Given the description of an element on the screen output the (x, y) to click on. 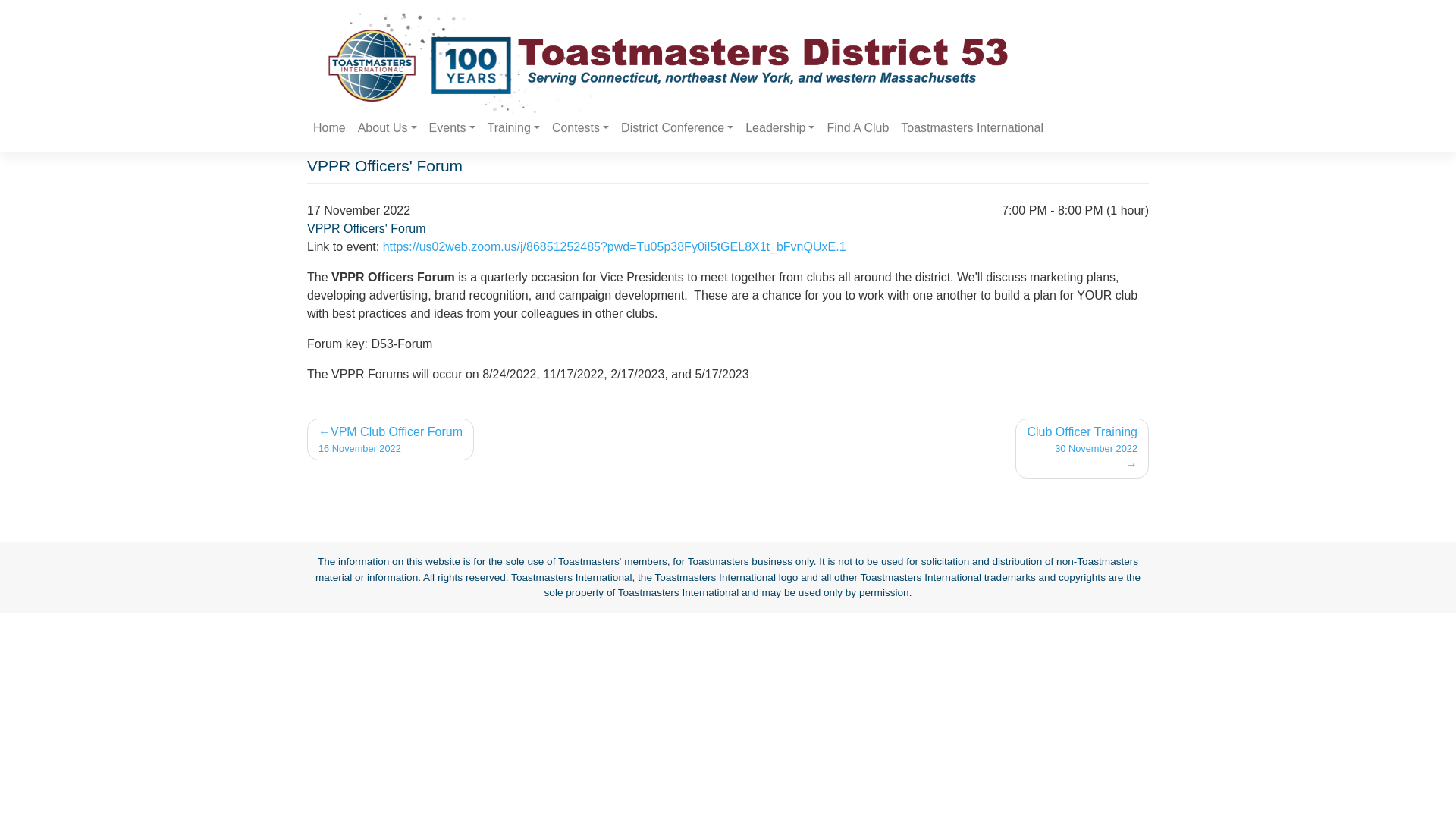
Contests (580, 128)
Toastmasters International (1081, 448)
Home (972, 128)
About Us (329, 128)
About Us (387, 128)
Events (387, 128)
Contests (452, 128)
Find A Club (580, 128)
Leadership (858, 128)
